Given the description of an element on the screen output the (x, y) to click on. 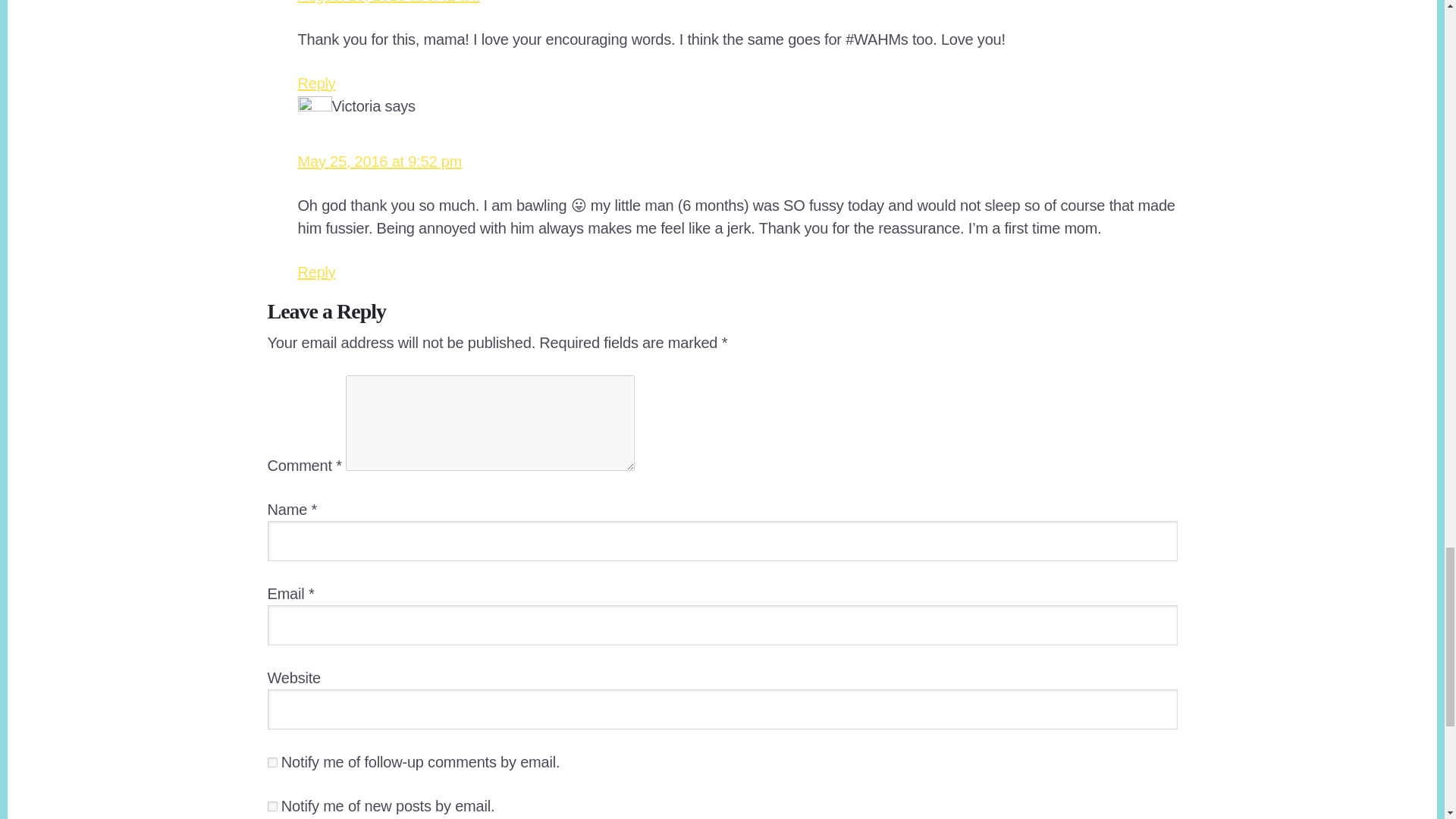
subscribe (271, 806)
May 25, 2016 at 9:52 pm (379, 161)
Reply (315, 83)
Reply (315, 271)
subscribe (271, 762)
August 15, 2015 at 8:42 am (388, 2)
